Given the description of an element on the screen output the (x, y) to click on. 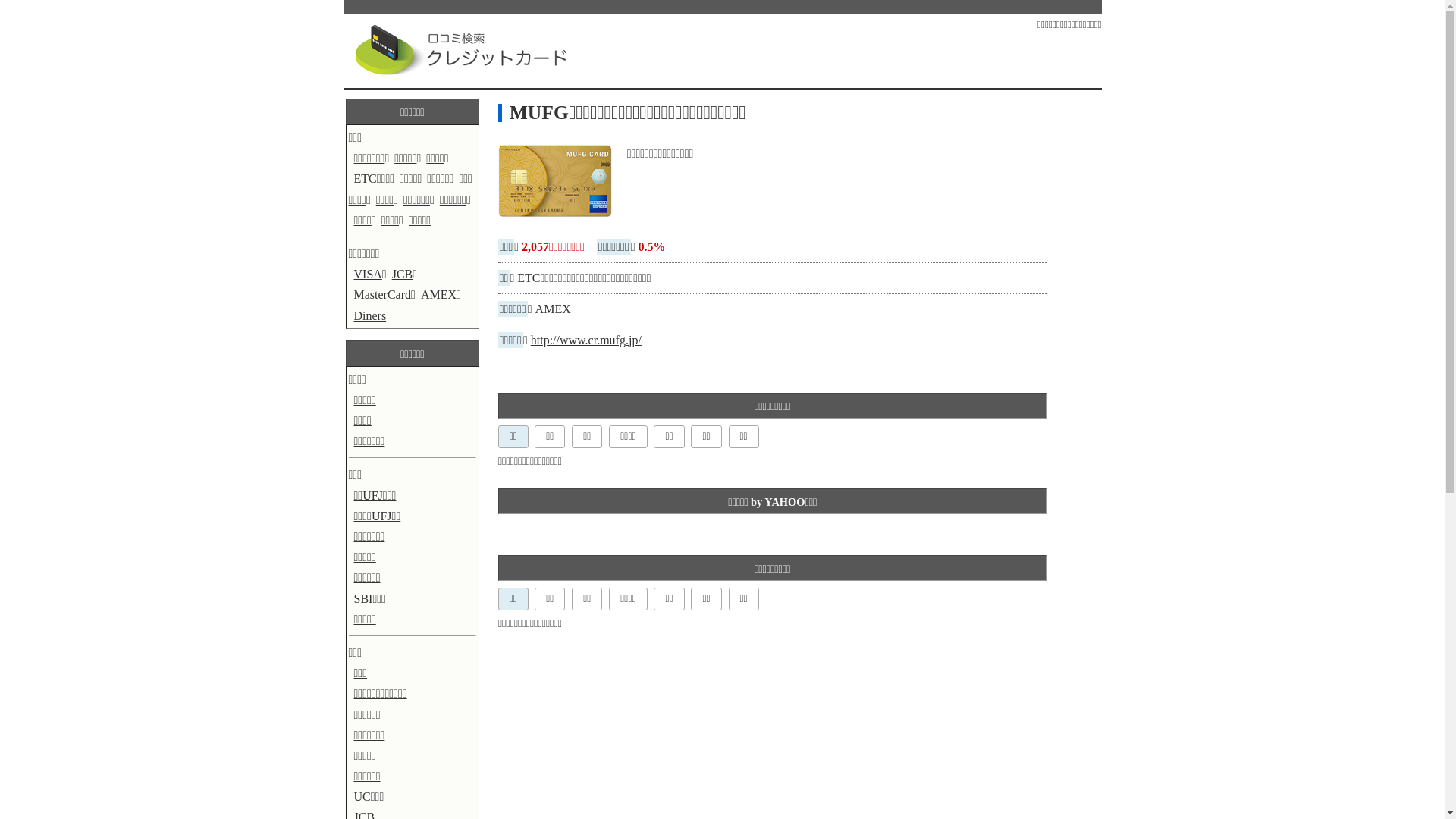
JCB Element type: text (399, 273)
Diners Element type: text (367, 315)
MasterCard Element type: text (379, 294)
VISA Element type: text (365, 273)
AMEX Element type: text (435, 294)
http://www.cr.mufg.jp/ Element type: text (585, 339)
